Given the description of an element on the screen output the (x, y) to click on. 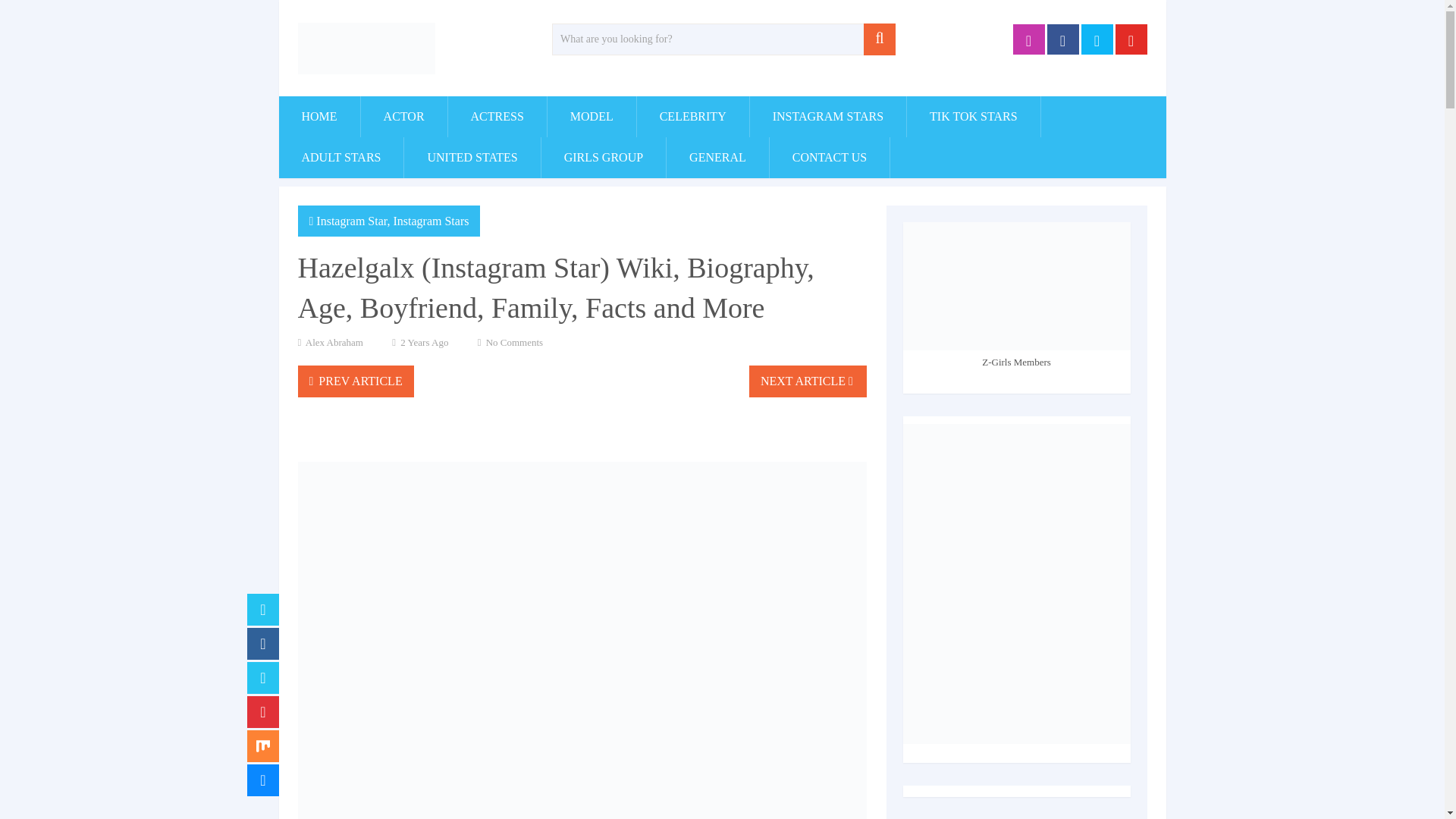
GENERAL (717, 157)
Instagram Star (351, 220)
INSTAGRAM STARS (827, 116)
Alex Abraham (333, 342)
HOME (319, 116)
MODEL (591, 116)
No Comments (514, 342)
ADULT STARS (341, 157)
Posts by Alex Abraham (333, 342)
CELEBRITY (693, 116)
